Given the description of an element on the screen output the (x, y) to click on. 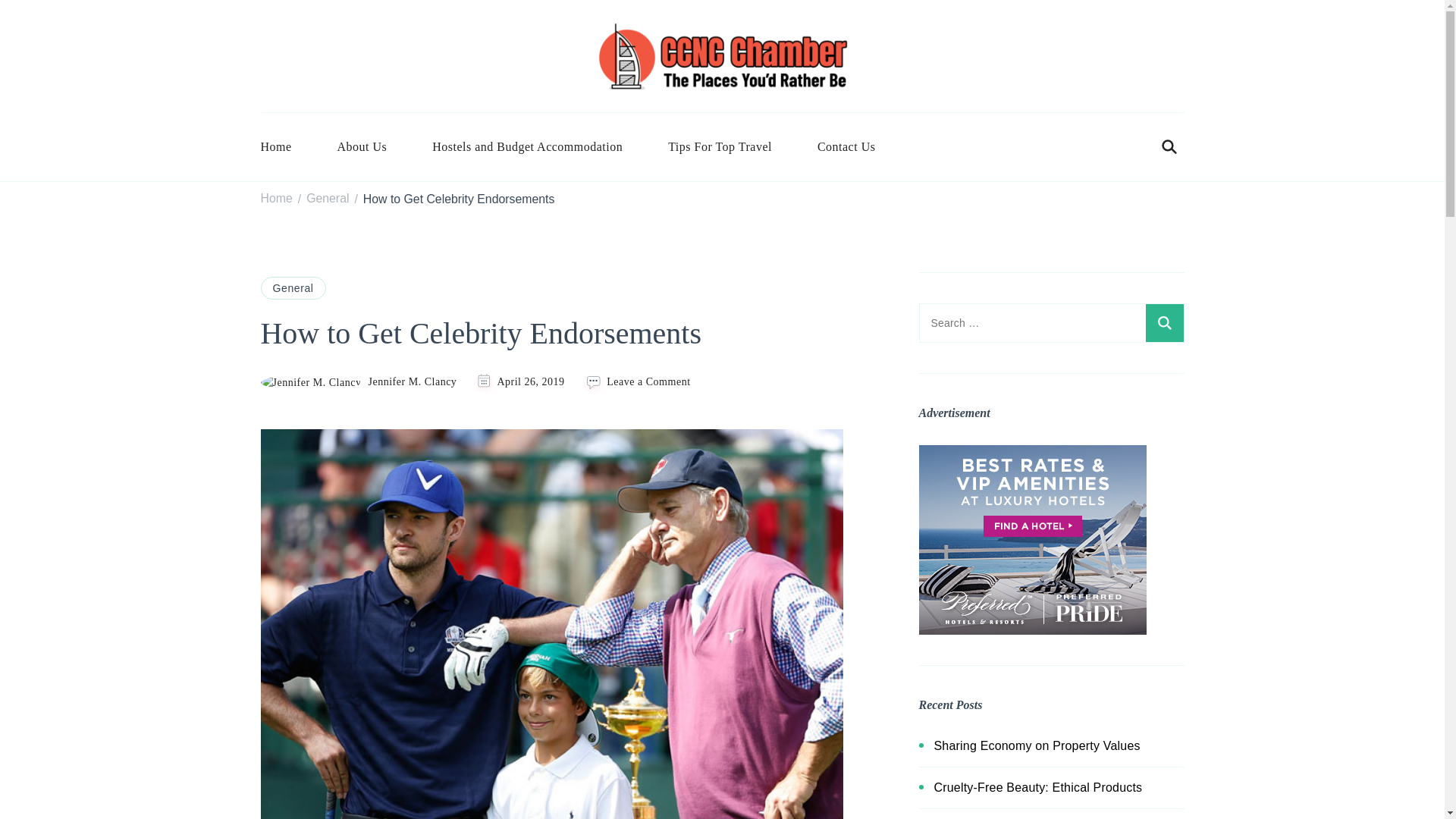
Hostels and Budget Accommodation (527, 146)
Contact Us (846, 146)
Search (1163, 322)
Search (1163, 322)
About Us (362, 146)
Home (276, 198)
Tips For Top Travel (719, 146)
Home (287, 146)
